Given the description of an element on the screen output the (x, y) to click on. 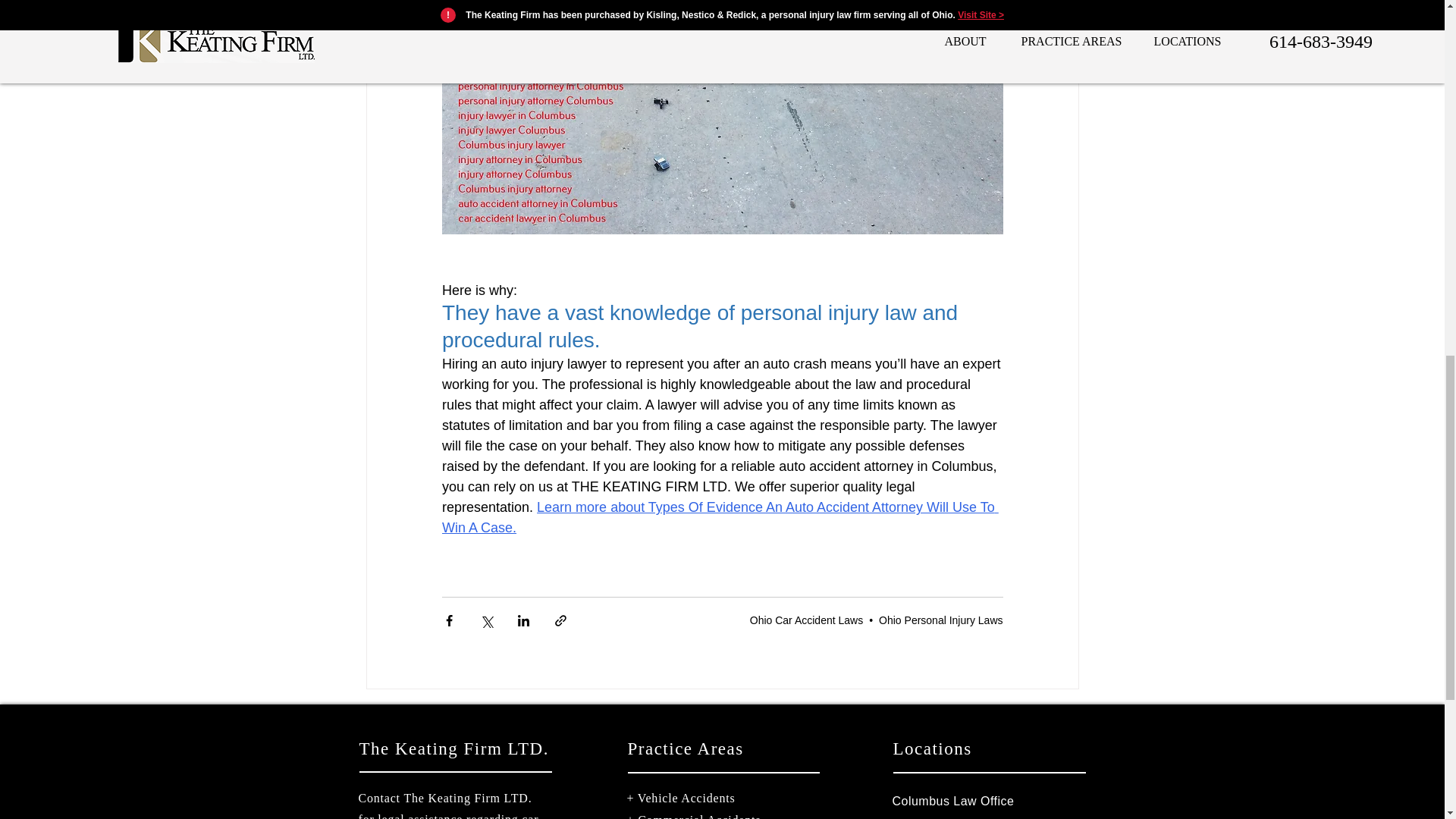
Ohio Car Accident Laws (806, 620)
Ohio Personal Injury Laws (941, 620)
Commercial Accidents (698, 816)
Vehicle Accidents (686, 797)
